Given the description of an element on the screen output the (x, y) to click on. 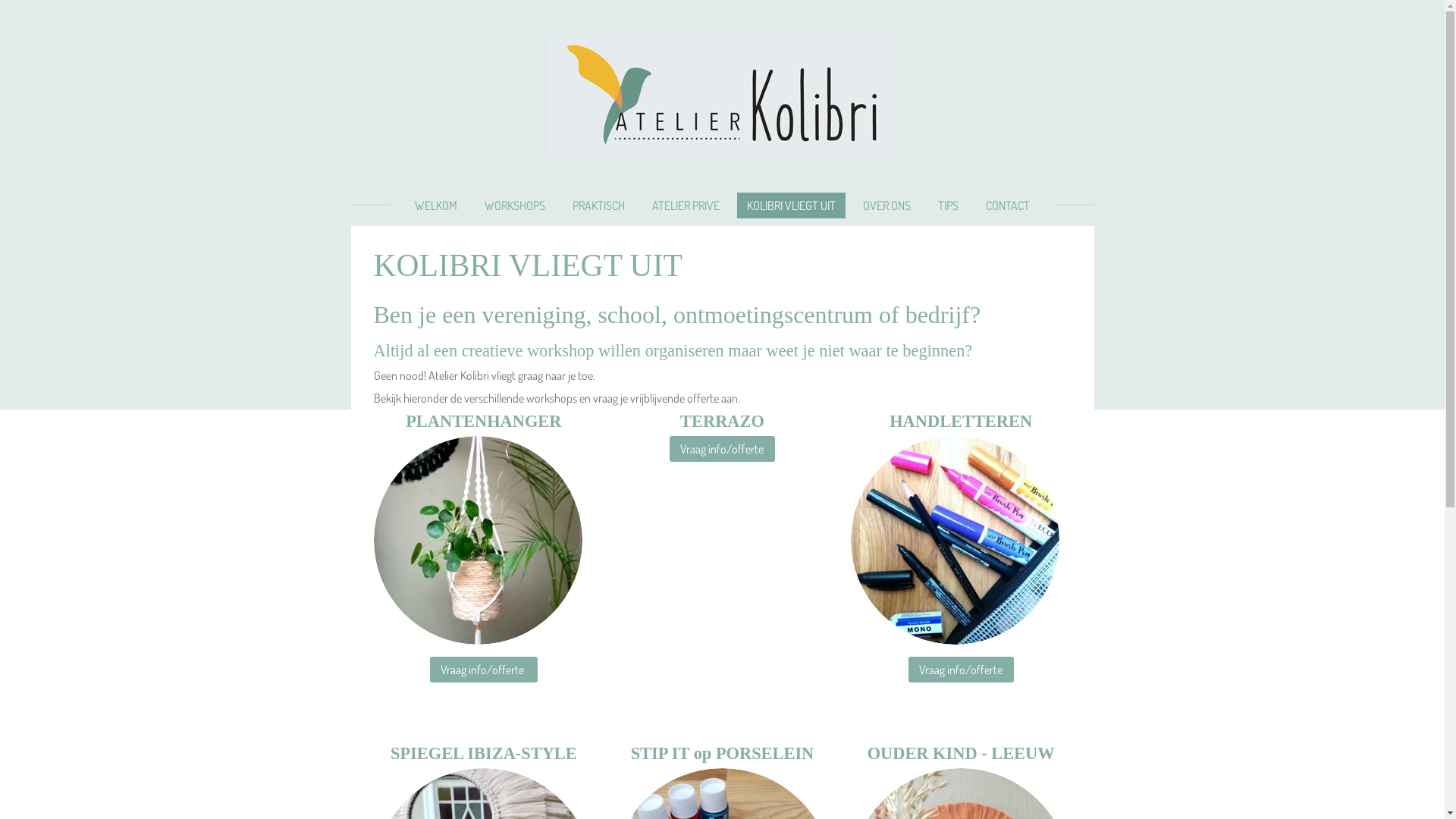
OVER ONS Element type: text (886, 205)
KOLIBRI VLIEGT UIT Element type: text (791, 205)
PRAKTISCH Element type: text (598, 205)
Vraag info/offerte  Element type: text (483, 669)
Vraag info/offerte Element type: text (960, 669)
Vraag info/offerte Element type: text (722, 448)
WORKSHOPS Element type: text (514, 205)
WELKOM Element type: text (435, 205)
CONTACT Element type: text (1007, 205)
ATELIER PRIVE Element type: text (685, 205)
atelierkolibri.be Element type: hover (722, 95)
TIPS Element type: text (948, 205)
